Given the description of an element on the screen output the (x, y) to click on. 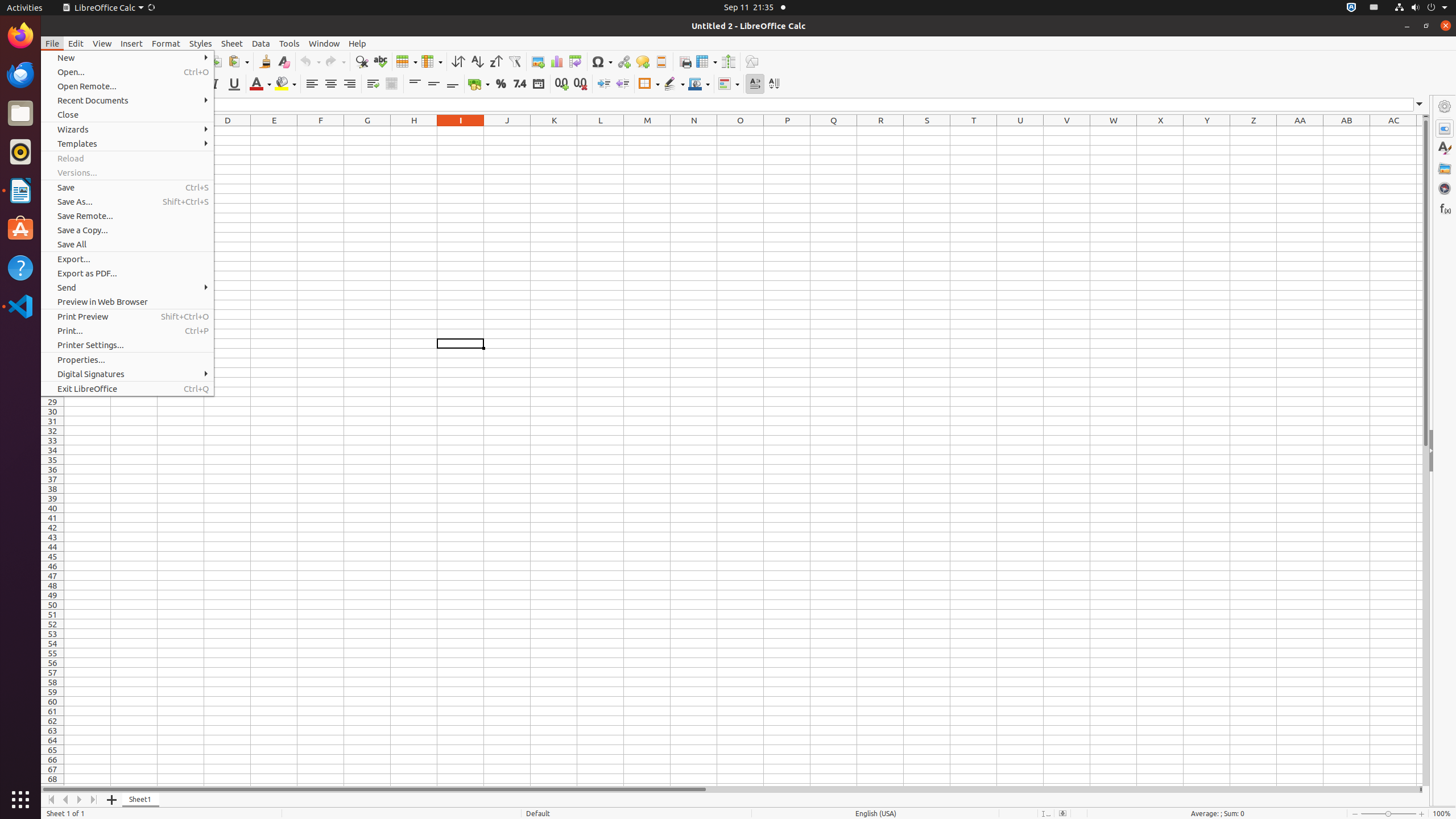
W1 Element type: table-cell (1113, 130)
Font Color Element type: push-button (260, 83)
Save a Copy... Element type: menu-item (126, 229)
Properties Element type: radio-button (1444, 128)
Move Left Element type: push-button (65, 799)
